Given the description of an element on the screen output the (x, y) to click on. 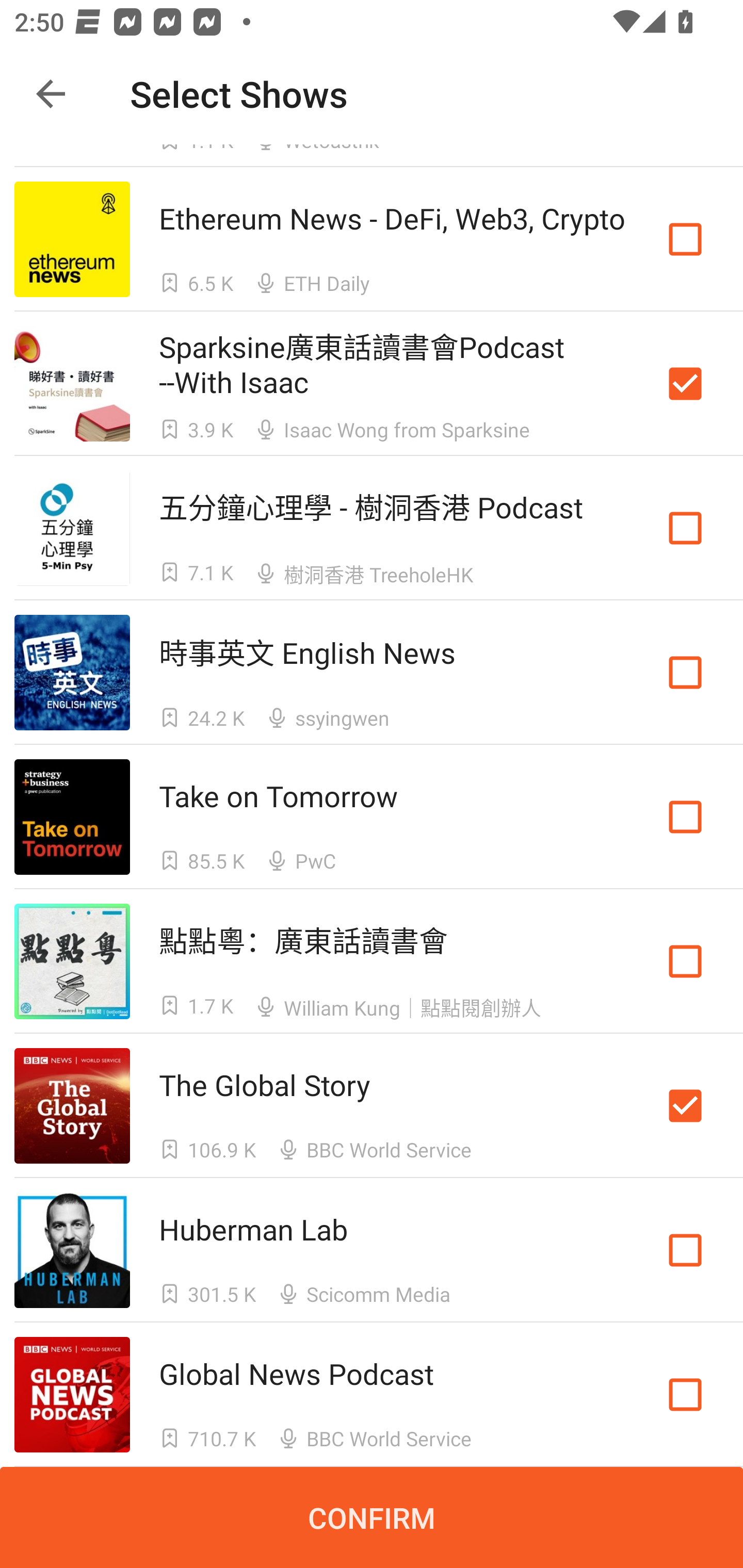
Navigate up (50, 93)
Take on Tomorrow Take on Tomorrow  85.5 K  PwC (371, 816)
CONFIRM (371, 1517)
